Given the description of an element on the screen output the (x, y) to click on. 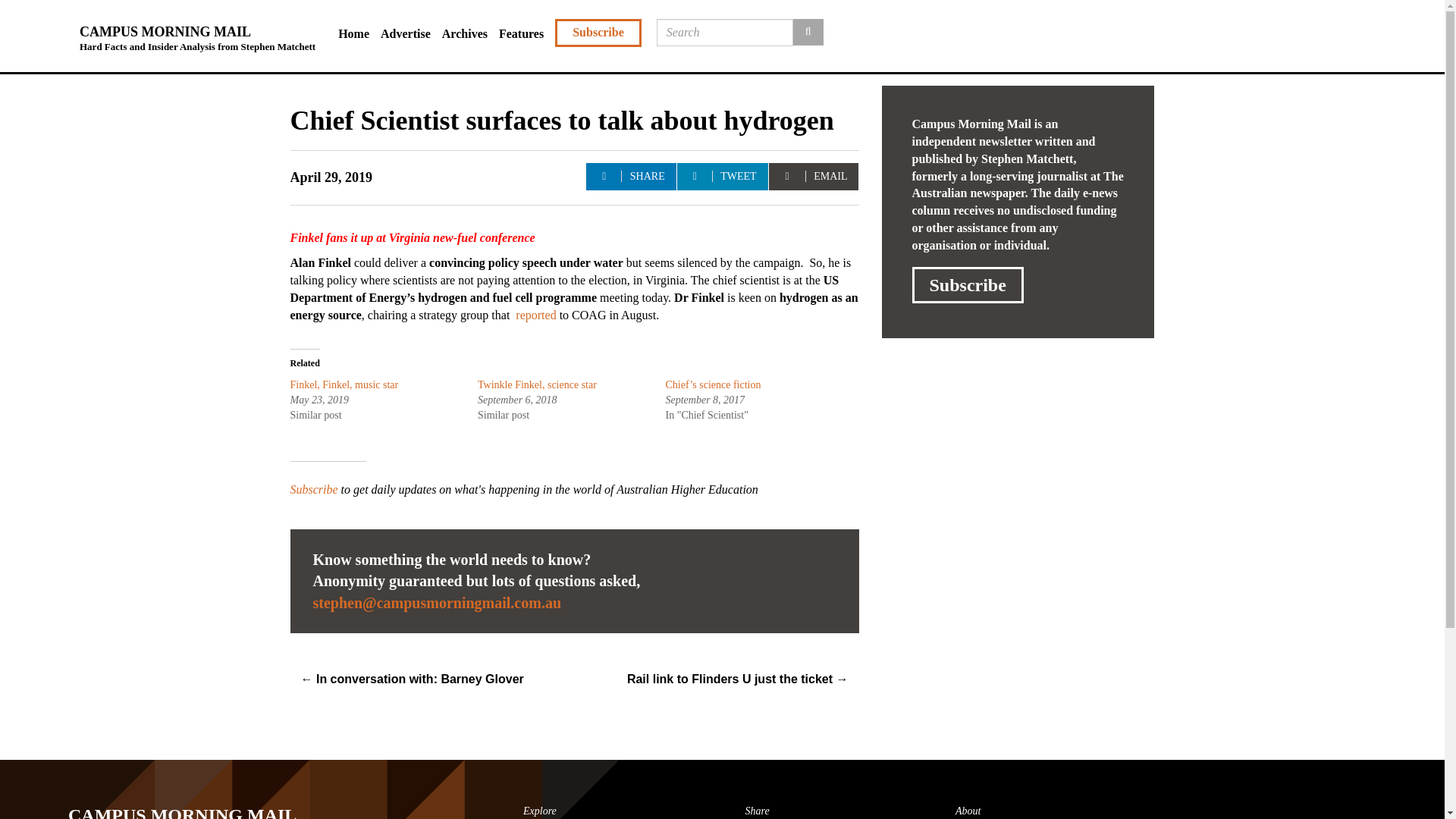
Search (808, 31)
Twinkle Finkel, science star   (539, 384)
Features (526, 34)
Finkel, Finkel, music star (343, 384)
Subscribe (967, 284)
Search for: (724, 31)
Advertise (411, 34)
Campus Morning Mail (213, 804)
Home (358, 34)
Home (358, 34)
TWEET (722, 176)
Features (526, 34)
Finkel, Finkel, music star (343, 384)
